Given the description of an element on the screen output the (x, y) to click on. 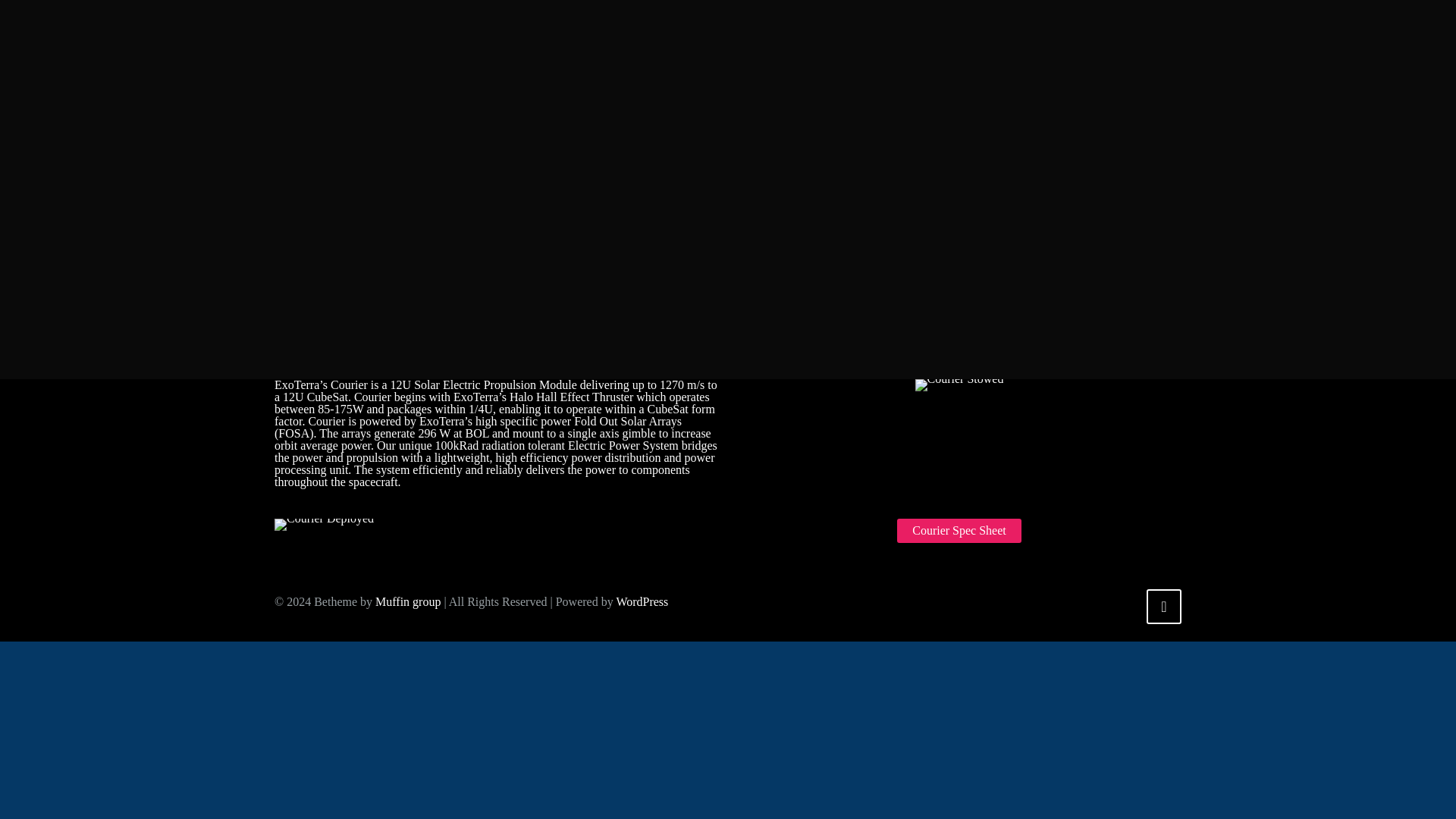
Courier Spec Sheet (959, 530)
WordPress (641, 601)
Muffin group (408, 601)
